Given the description of an element on the screen output the (x, y) to click on. 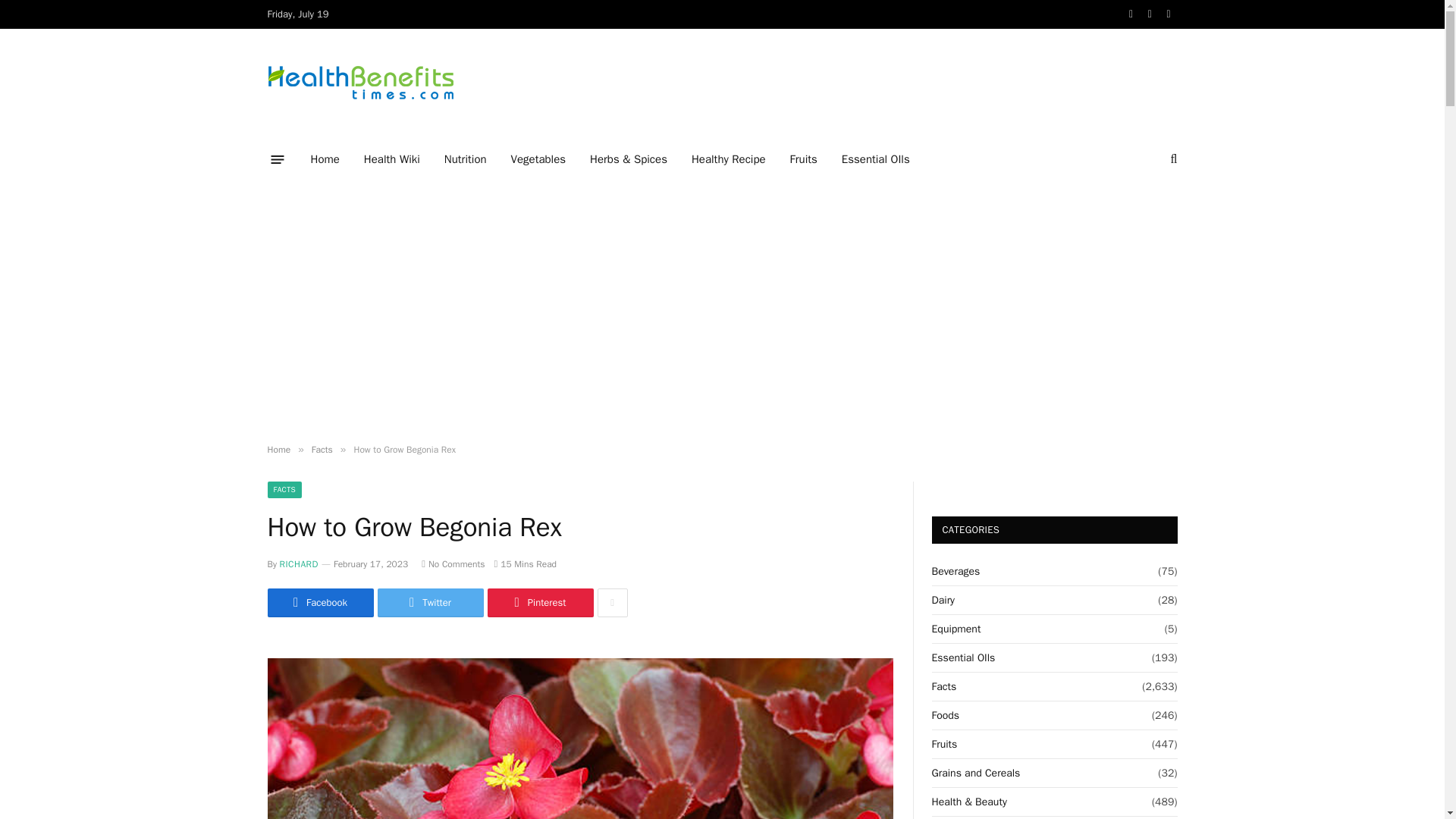
Health Benefits (359, 83)
Vegetables (538, 159)
Share on Facebook (319, 602)
Healthy Recipe (728, 159)
Posts by Richard (298, 563)
Essential OIls (875, 159)
Health Wiki (392, 159)
Show More Social Sharing (611, 602)
Home (277, 449)
Facebook (319, 602)
No Comments (453, 563)
FACTS (283, 489)
Share on Pinterest (539, 602)
Pinterest (539, 602)
